Given the description of an element on the screen output the (x, y) to click on. 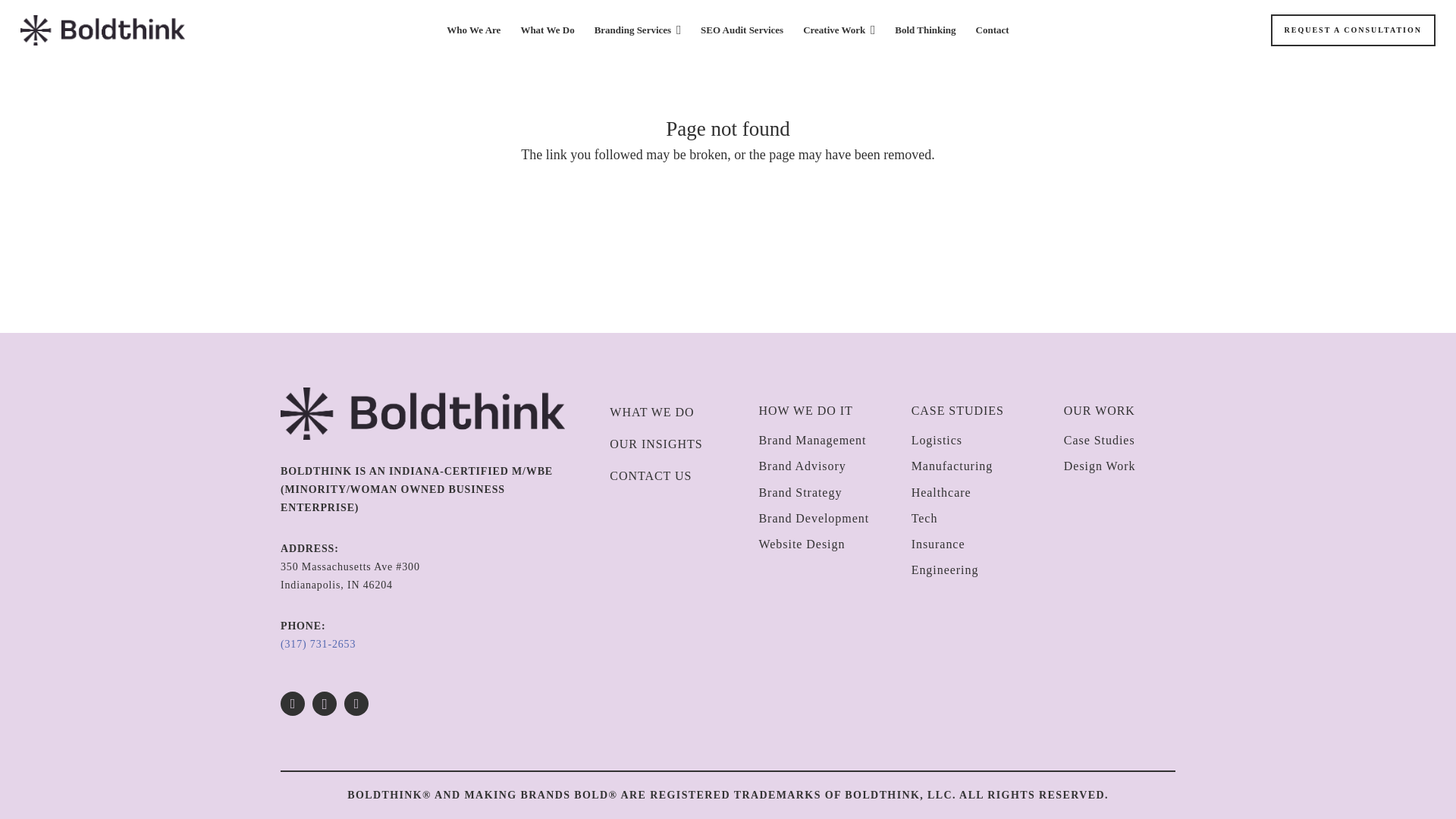
Website Design (801, 543)
OUR INSIGHTS (655, 443)
REQUEST A CONSULTATION (1353, 29)
Case Studies (1099, 440)
CONTACT US (650, 475)
Brand Management (812, 440)
Design Work (1099, 465)
Brand Advisory (801, 465)
WHAT WE DO (651, 411)
Who We Are (473, 30)
Branding Services (637, 30)
Tech (924, 517)
What We Do (547, 30)
Manufacturing (951, 465)
Facebook (292, 703)
